Given the description of an element on the screen output the (x, y) to click on. 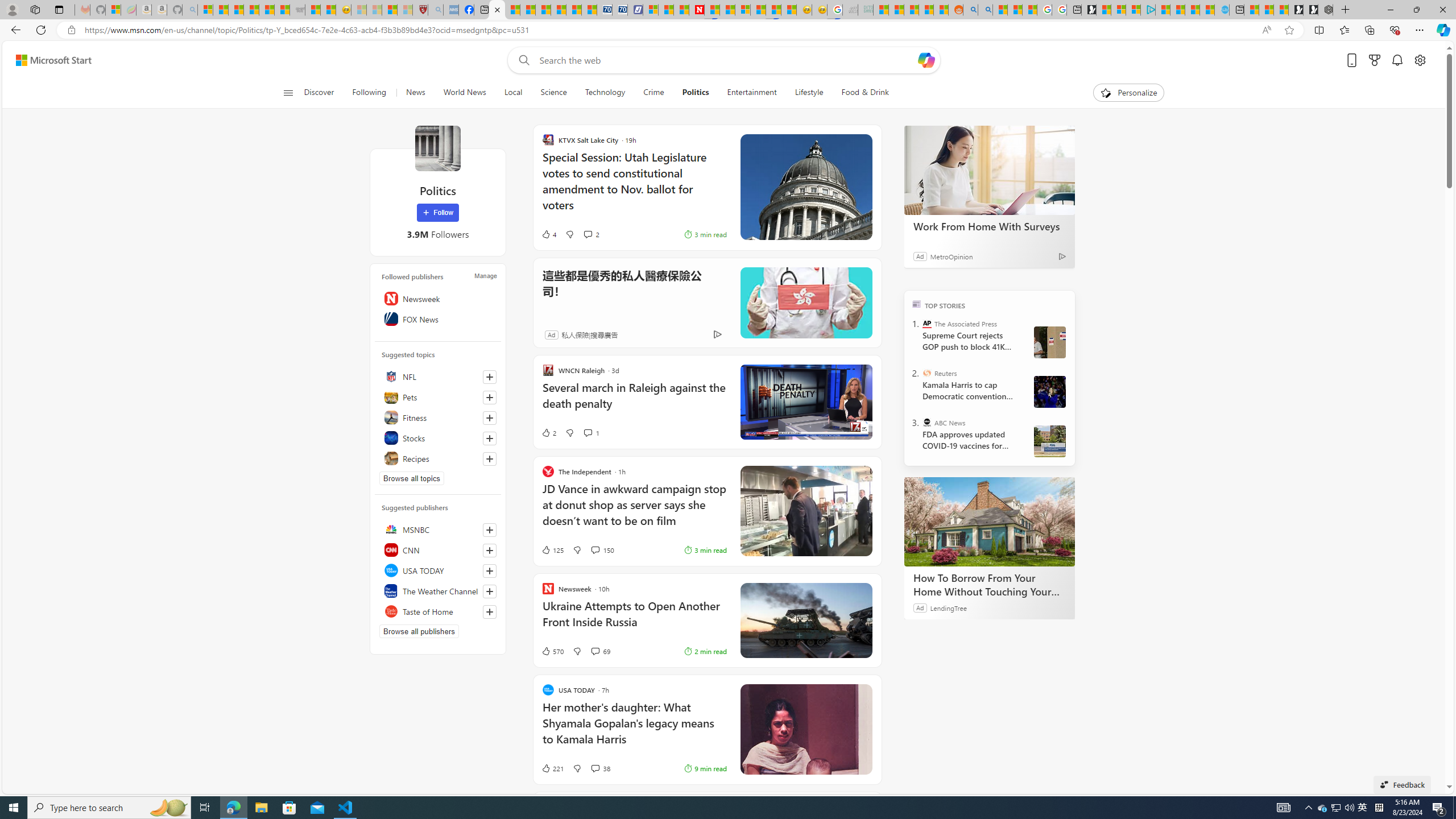
NFL (437, 376)
The Weather Channel (437, 590)
Recipes (437, 458)
TOP (916, 302)
ABC News (927, 422)
